Given the description of an element on the screen output the (x, y) to click on. 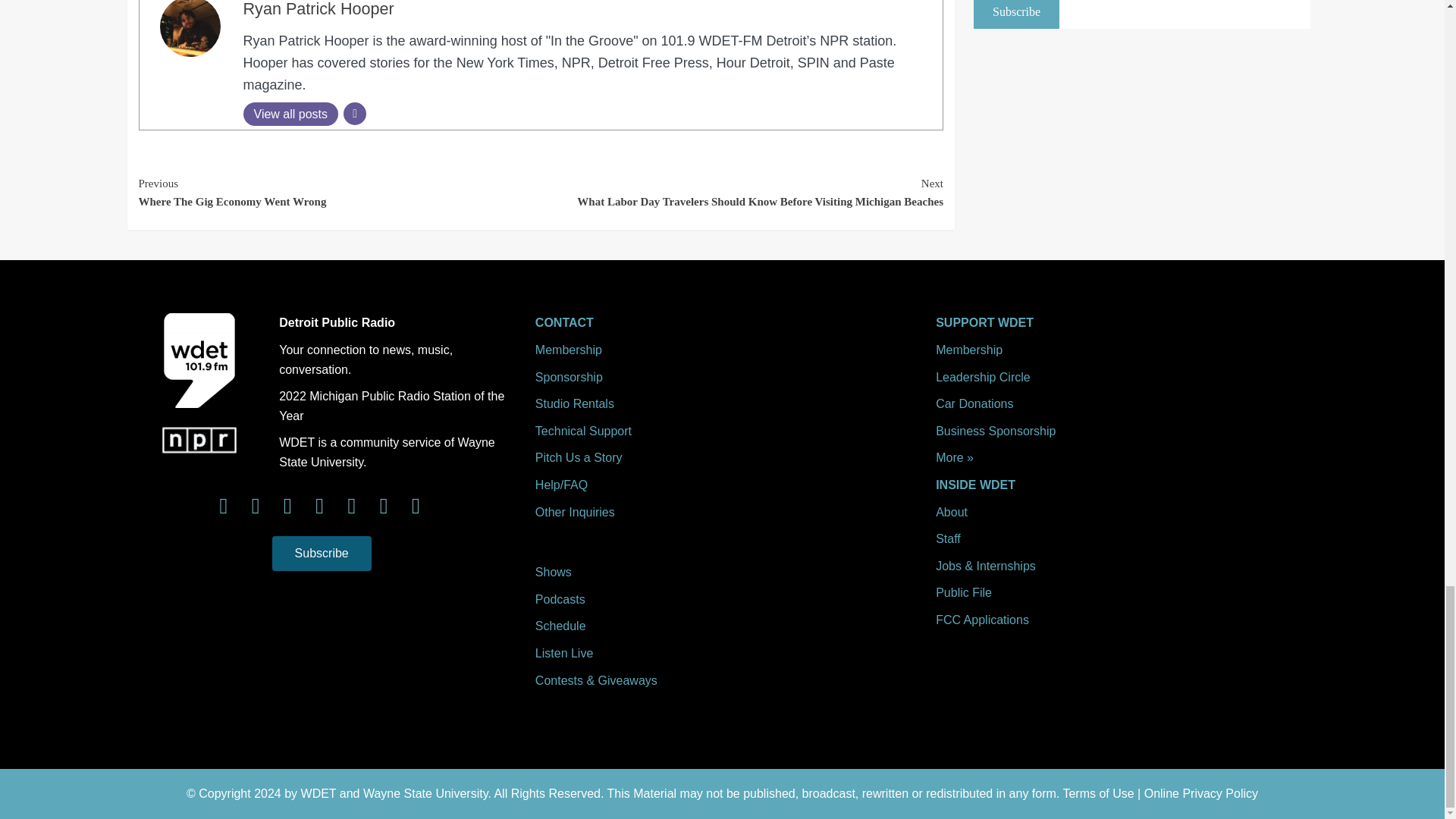
Ryan Patrick Hooper (318, 9)
View all posts (290, 114)
wdet footer logo (199, 359)
